Given the description of an element on the screen output the (x, y) to click on. 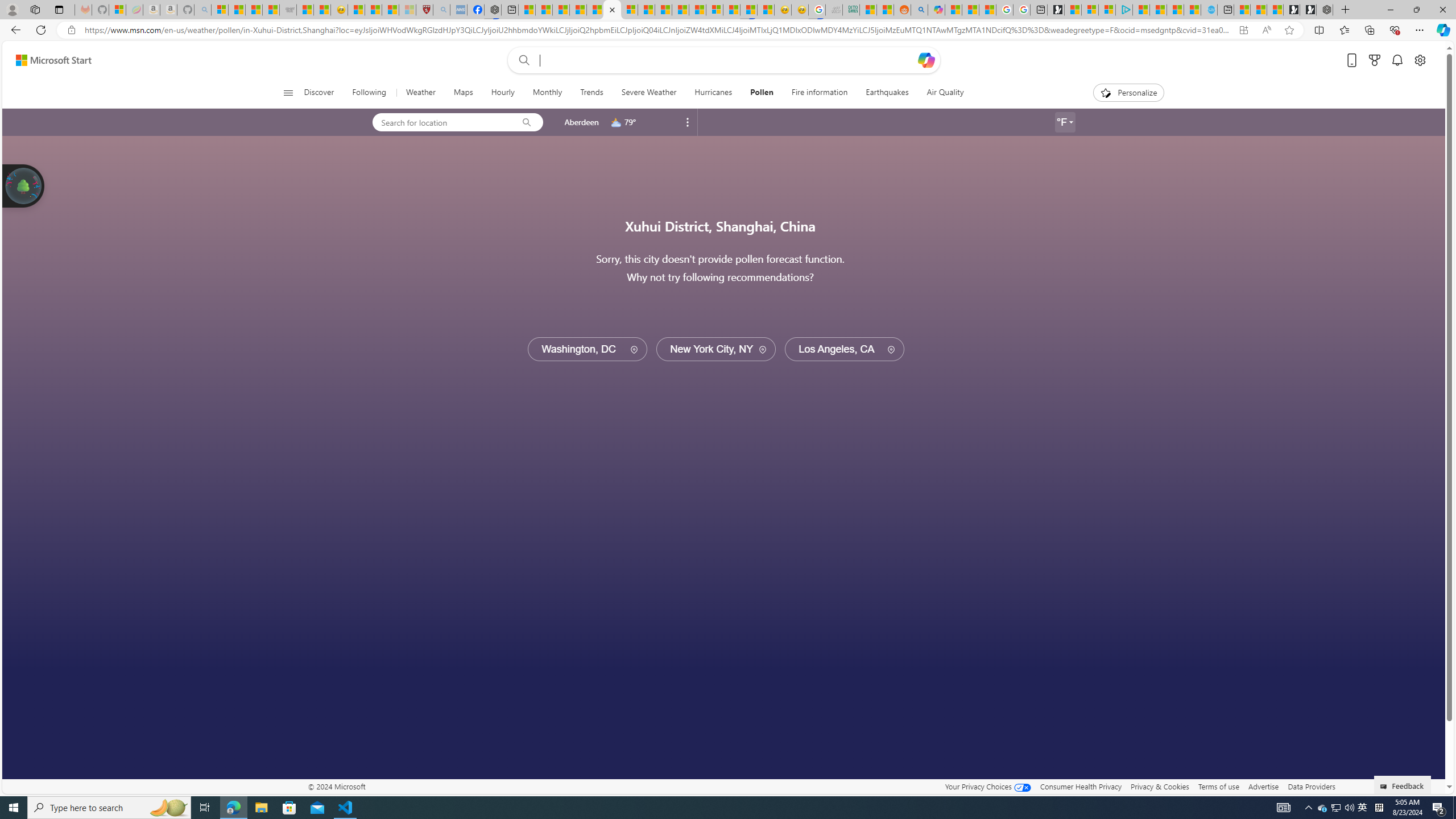
Join us in planting real trees to help our planet! (23, 185)
Data Providers (1311, 785)
Data Providers (1311, 786)
Remove location (687, 122)
